Given the description of an element on the screen output the (x, y) to click on. 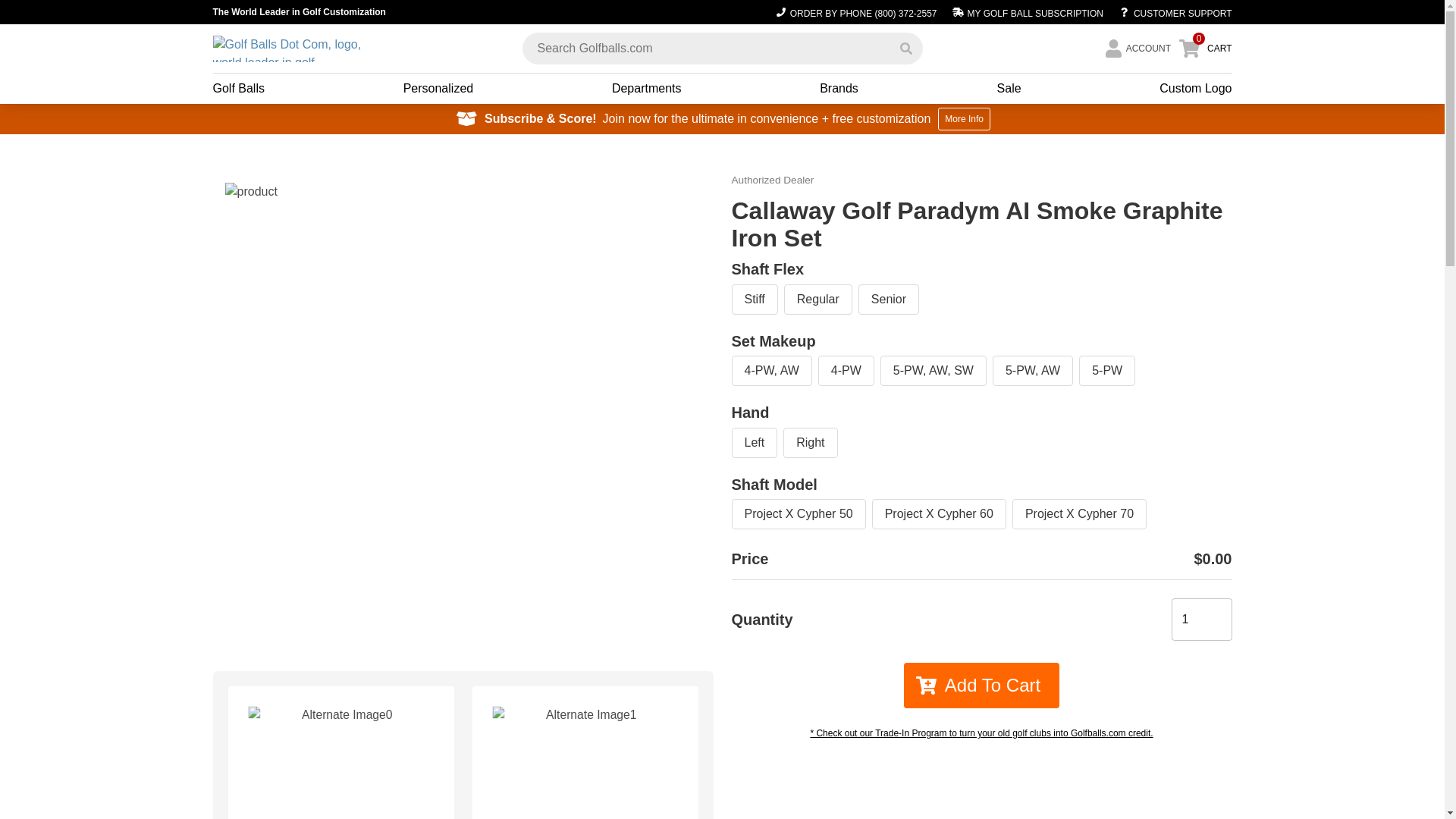
MY GOLF BALL SUBSCRIPTION (1026, 12)
Brands (839, 88)
Senior (888, 299)
Custom Logo (1194, 88)
More Info (963, 118)
Stiff (753, 299)
Golf Balls (237, 88)
CUSTOMER SUPPORT (1170, 12)
4-PW (846, 370)
4-PW, AW (770, 370)
1 (1200, 619)
5-PW, AW (1032, 370)
Regular (817, 299)
Personalized (438, 88)
Sale (1009, 88)
